Given the description of an element on the screen output the (x, y) to click on. 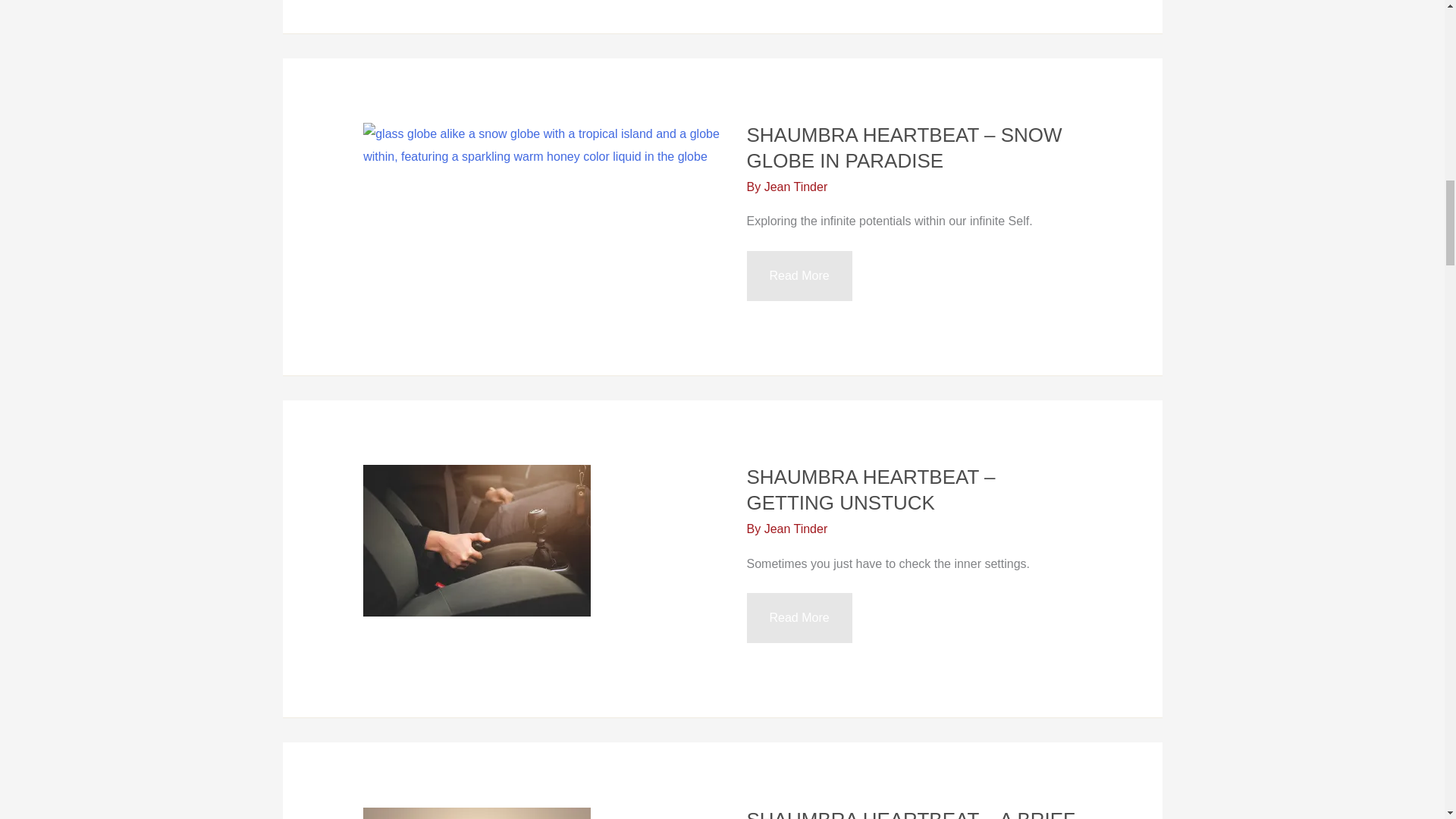
View all posts by Jean Tinder (796, 186)
View all posts by Jean Tinder (796, 528)
Jean Tinder (796, 186)
